Given the description of an element on the screen output the (x, y) to click on. 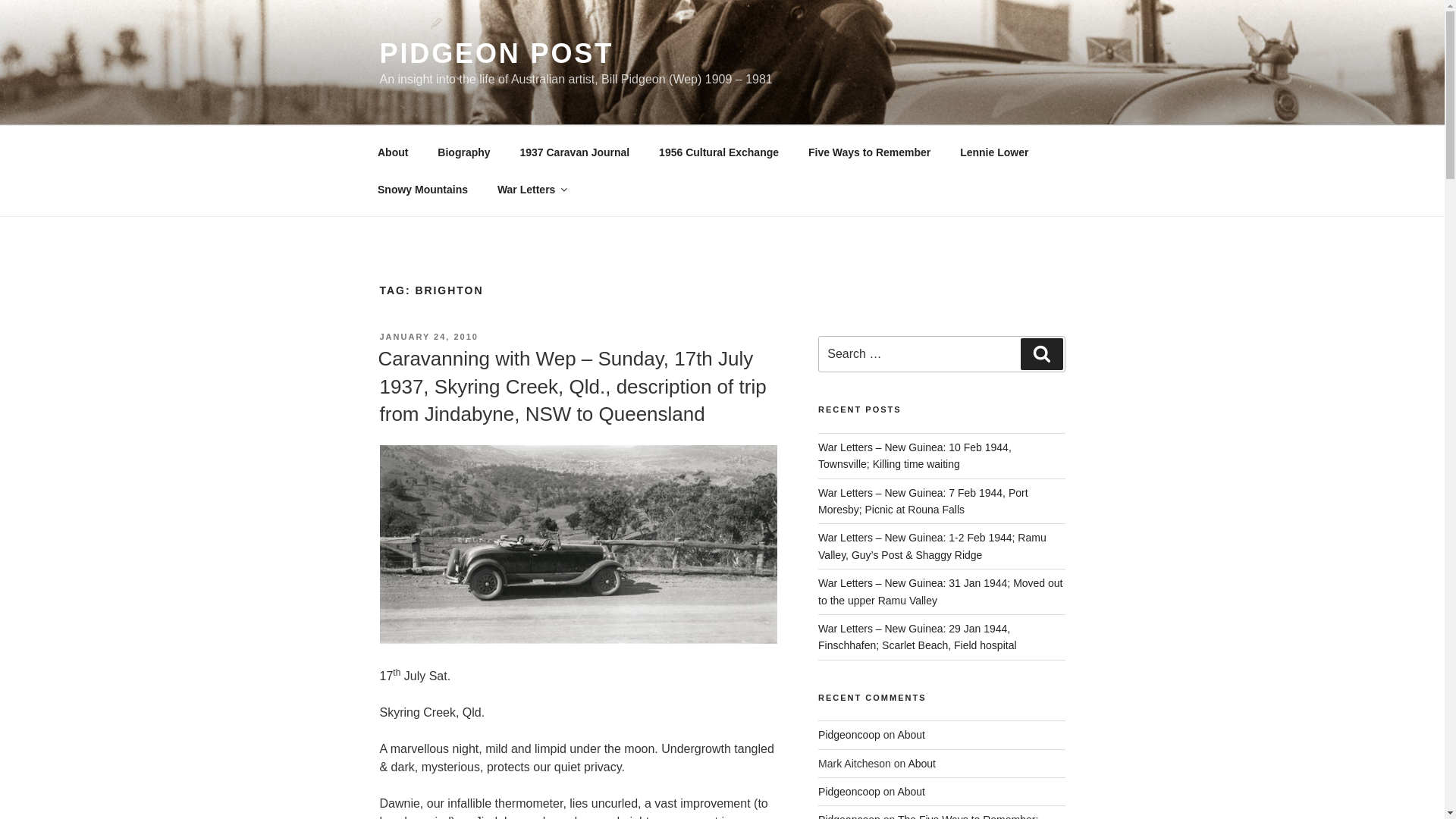
Search (1041, 354)
Pidgeoncoop (849, 791)
Biography (464, 151)
Snowy Mountains (422, 189)
War Letters (531, 189)
About (910, 791)
Pidgeoncoop (849, 734)
About (392, 151)
About (910, 734)
JANUARY 24, 2010 (427, 336)
1956 Cultural Exchange (719, 151)
PIDGEON POST (495, 52)
About (921, 763)
Five Ways to Remember (868, 151)
1937 Caravan Journal (574, 151)
